Given the description of an element on the screen output the (x, y) to click on. 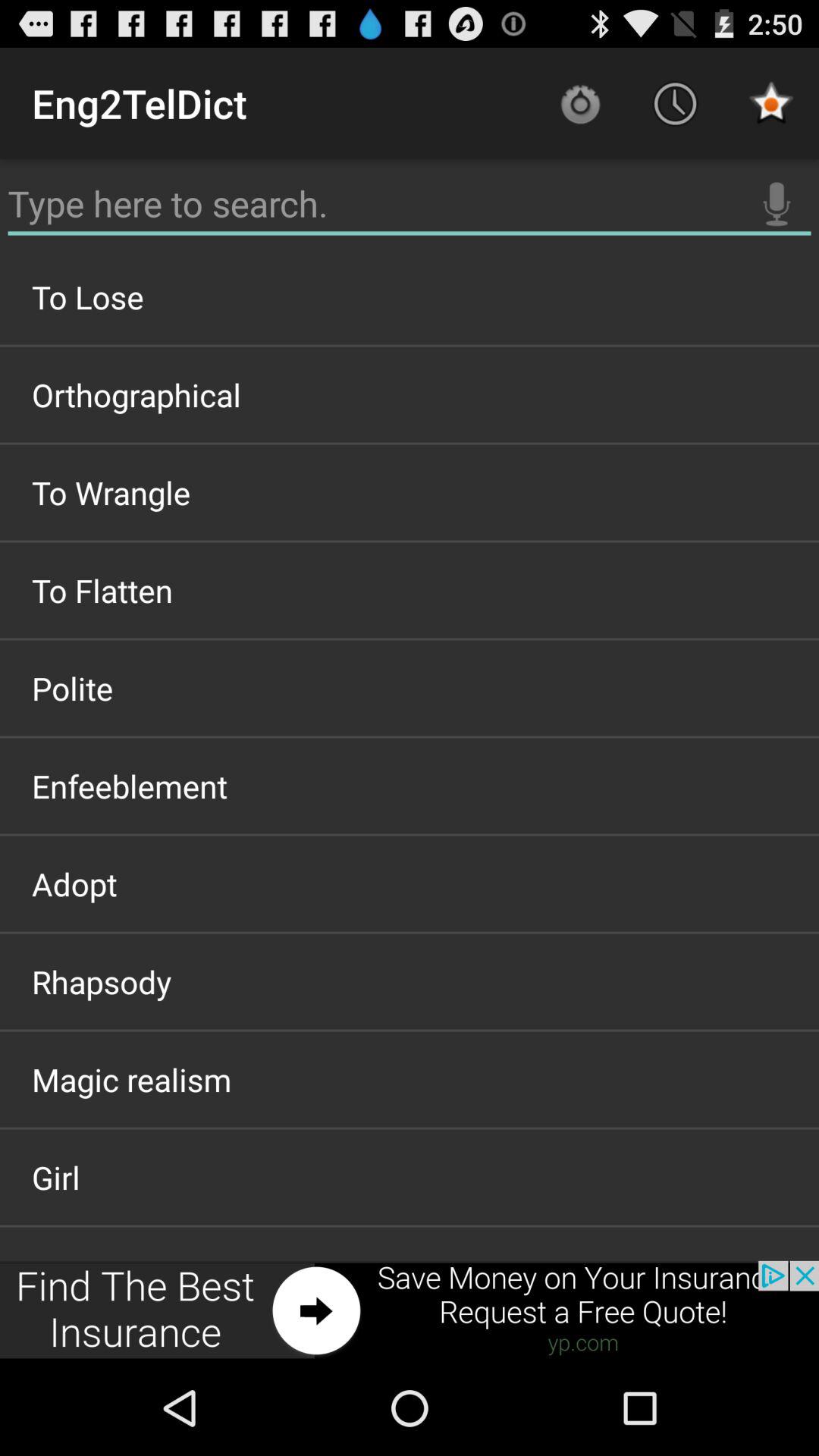
advertisement (409, 1310)
